Given the description of an element on the screen output the (x, y) to click on. 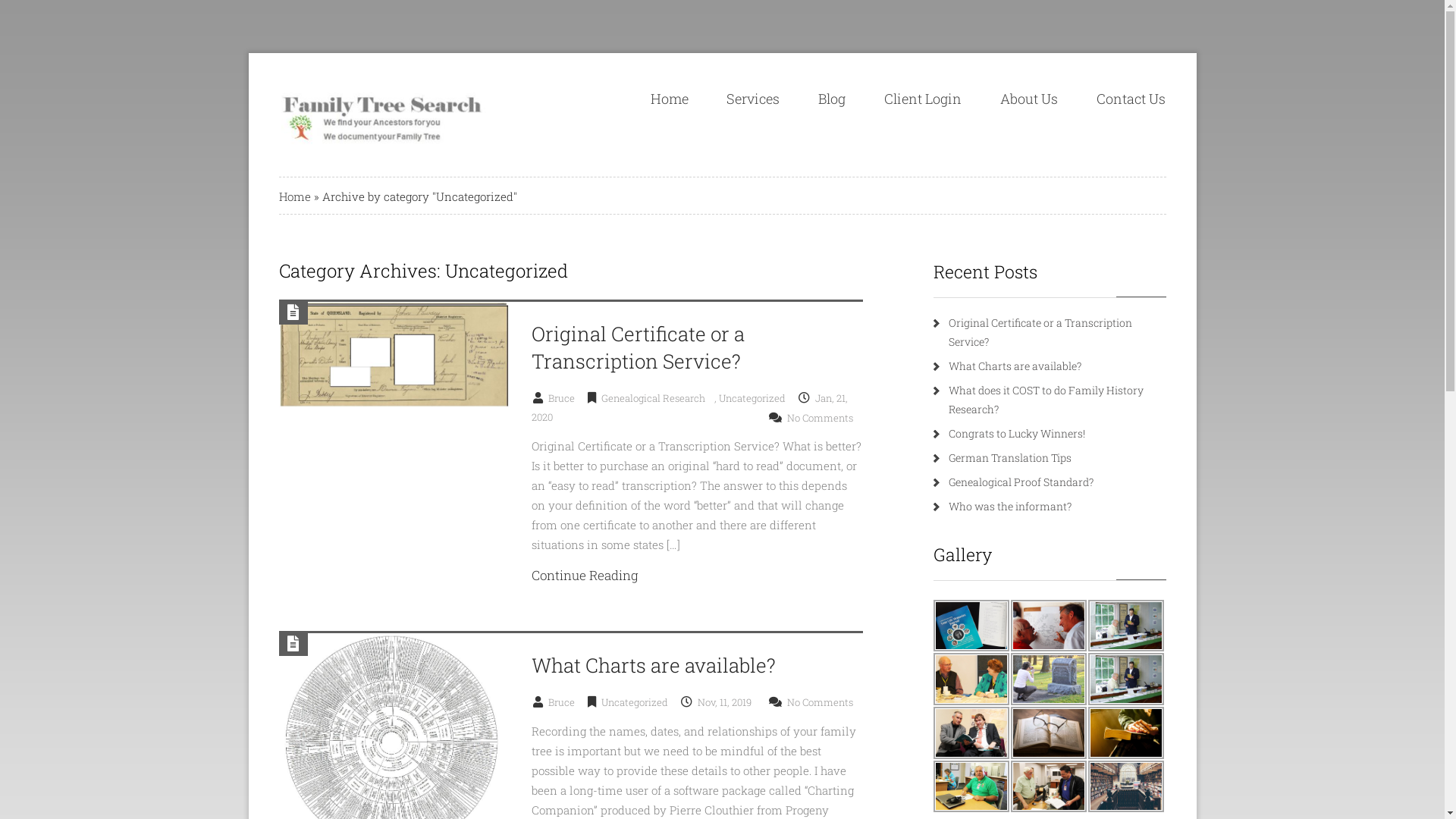
Services Element type: text (752, 98)
Blog Element type: text (831, 98)
Uncategorized Element type: text (639, 702)
Bruce Element type: text (565, 702)
Book-Slider-Image Element type: hover (970, 625)
Gallery-16 Element type: hover (1125, 732)
Congrats to Lucky Winners! Element type: text (1015, 433)
Home Element type: text (668, 98)
No Comments Element type: text (824, 702)
Original Certificate or a Transcription Service? Element type: text (1039, 331)
No Comments Element type: text (824, 417)
Gallery-15 Element type: hover (1047, 786)
Contact Us Element type: text (1130, 98)
Gallery-4-2 Element type: hover (970, 732)
Gallery-8-2-1 Element type: hover (970, 678)
Original Certificate or a Transcription Service? Element type: text (637, 346)
Client Login Element type: text (922, 98)
Bruce Element type: text (565, 397)
Gallery-6-1 Element type: hover (1047, 732)
Gallery-9-2-1 Element type: hover (1047, 678)
Gallery-1 Element type: hover (1125, 786)
What does it COST to do Family History Research? Element type: text (1044, 399)
Gallery-10-2-1 Element type: hover (1047, 625)
Who was the informant? Element type: text (1008, 505)
About Us Element type: text (1028, 98)
Genealogical Research Element type: text (657, 397)
Gallery-11 Element type: hover (970, 786)
Home Element type: text (294, 195)
Genealogical Proof Standard? Element type: text (1019, 481)
What Charts are available? Element type: text (1013, 365)
Uncategorized Element type: text (756, 397)
Gallery-7-2-1 Element type: hover (1125, 678)
Continue Reading Element type: text (584, 574)
German Translation Tips Element type: text (1008, 457)
Gallery-7-3 Element type: hover (1125, 625)
What Charts are available? Element type: text (653, 664)
